Given the description of an element on the screen output the (x, y) to click on. 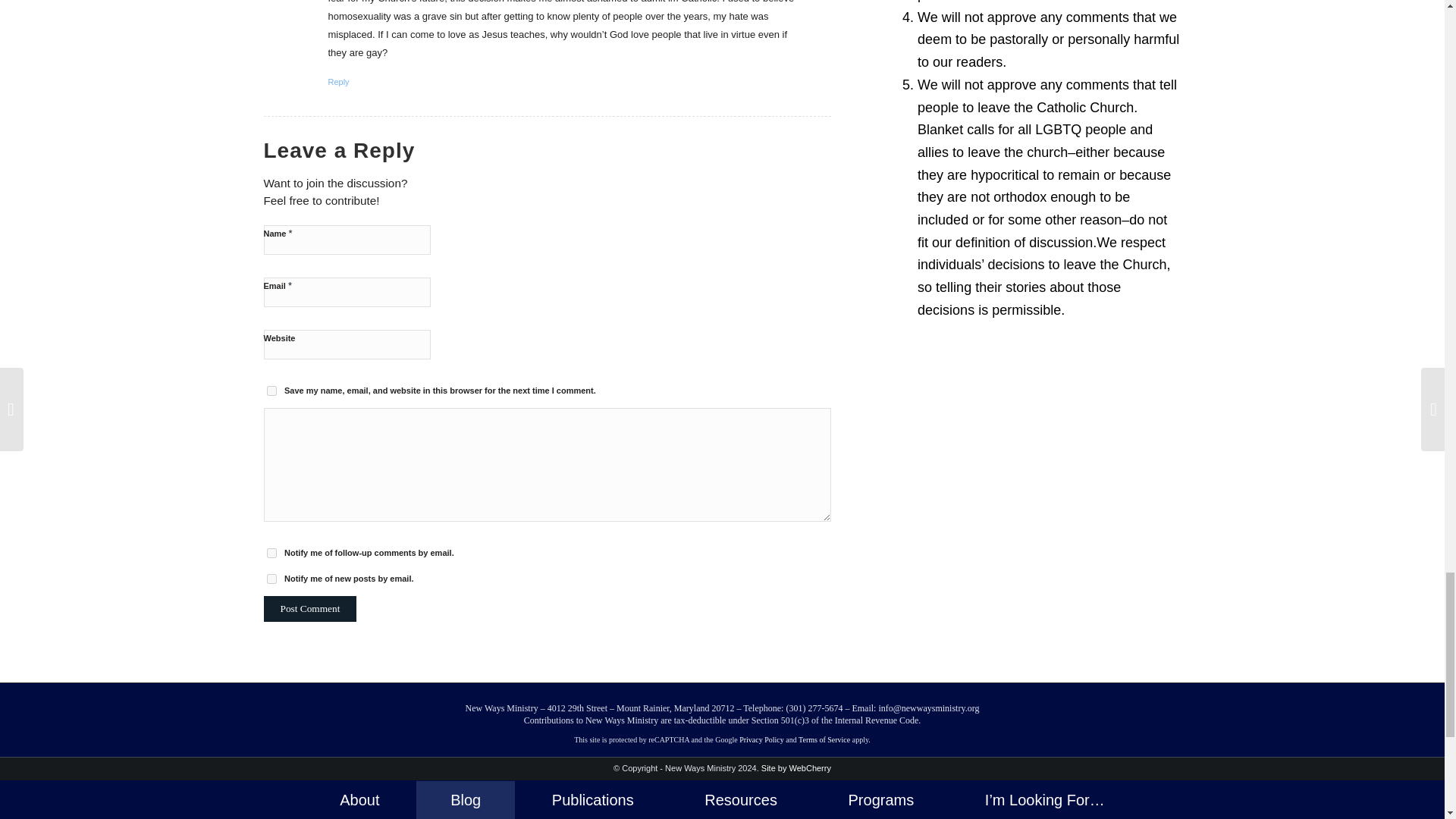
yes (271, 390)
subscribe (271, 552)
Post Comment (309, 608)
subscribe (271, 578)
